Given the description of an element on the screen output the (x, y) to click on. 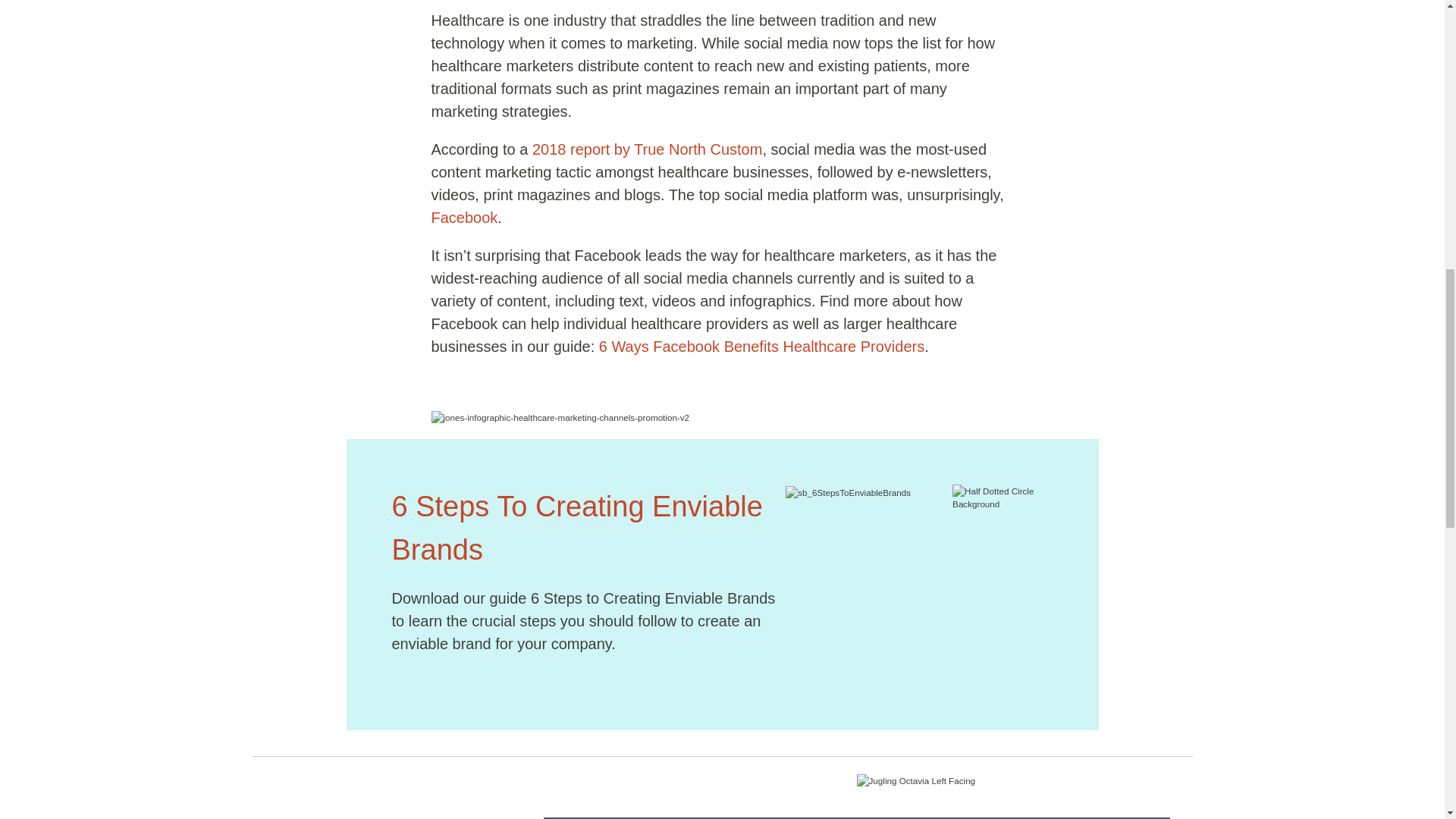
Facebook (463, 217)
2018 report by True North Custom (646, 149)
6 Ways Facebook Benefits Healthcare Providers (761, 346)
